Given the description of an element on the screen output the (x, y) to click on. 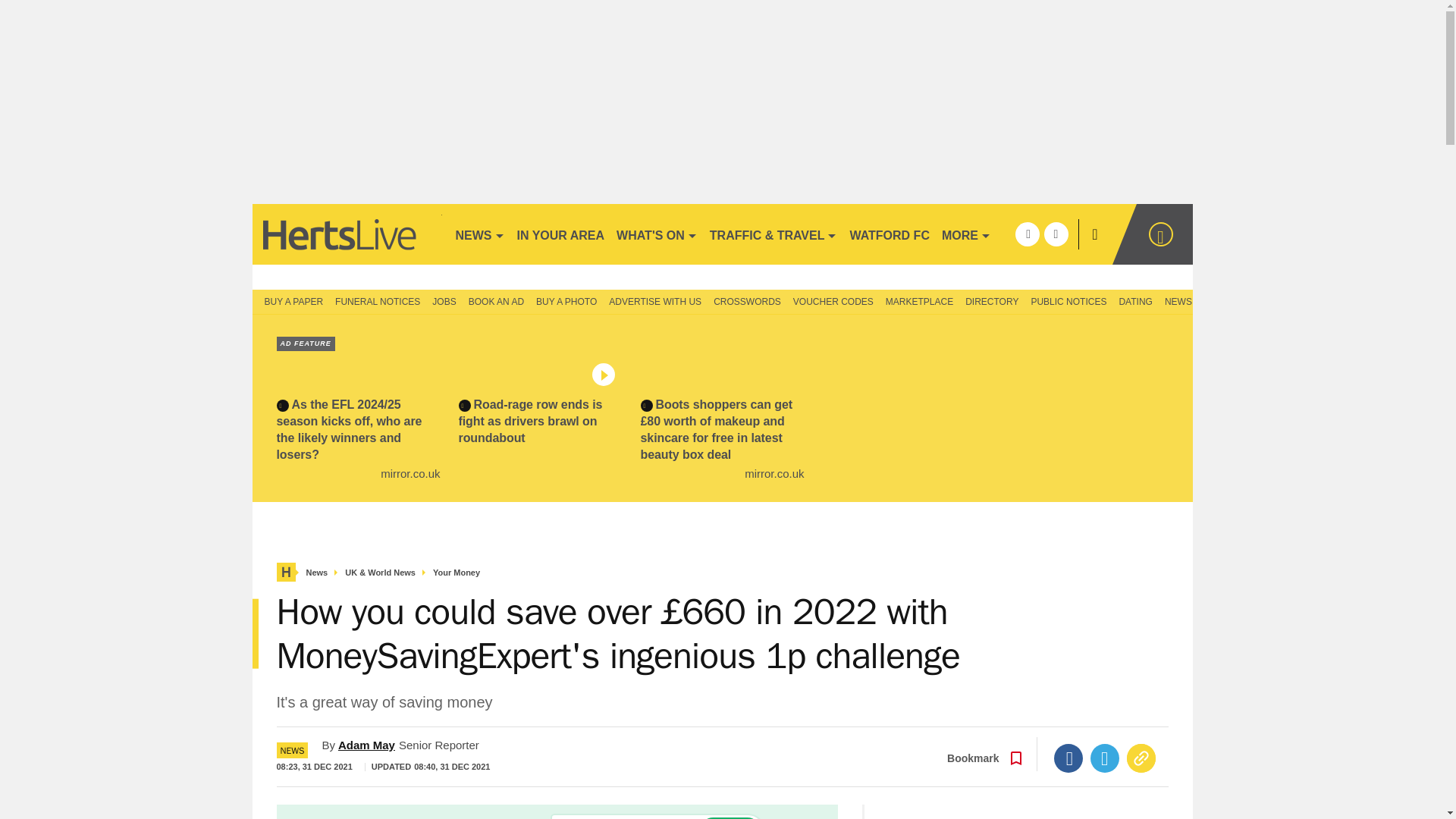
Facebook (1068, 758)
MORE (966, 233)
NEWS (479, 233)
WHAT'S ON (656, 233)
IN YOUR AREA (561, 233)
Go (730, 818)
facebook (1026, 233)
Twitter (1104, 758)
hertfordshiremercury (346, 233)
WATFORD FC (888, 233)
